Given the description of an element on the screen output the (x, y) to click on. 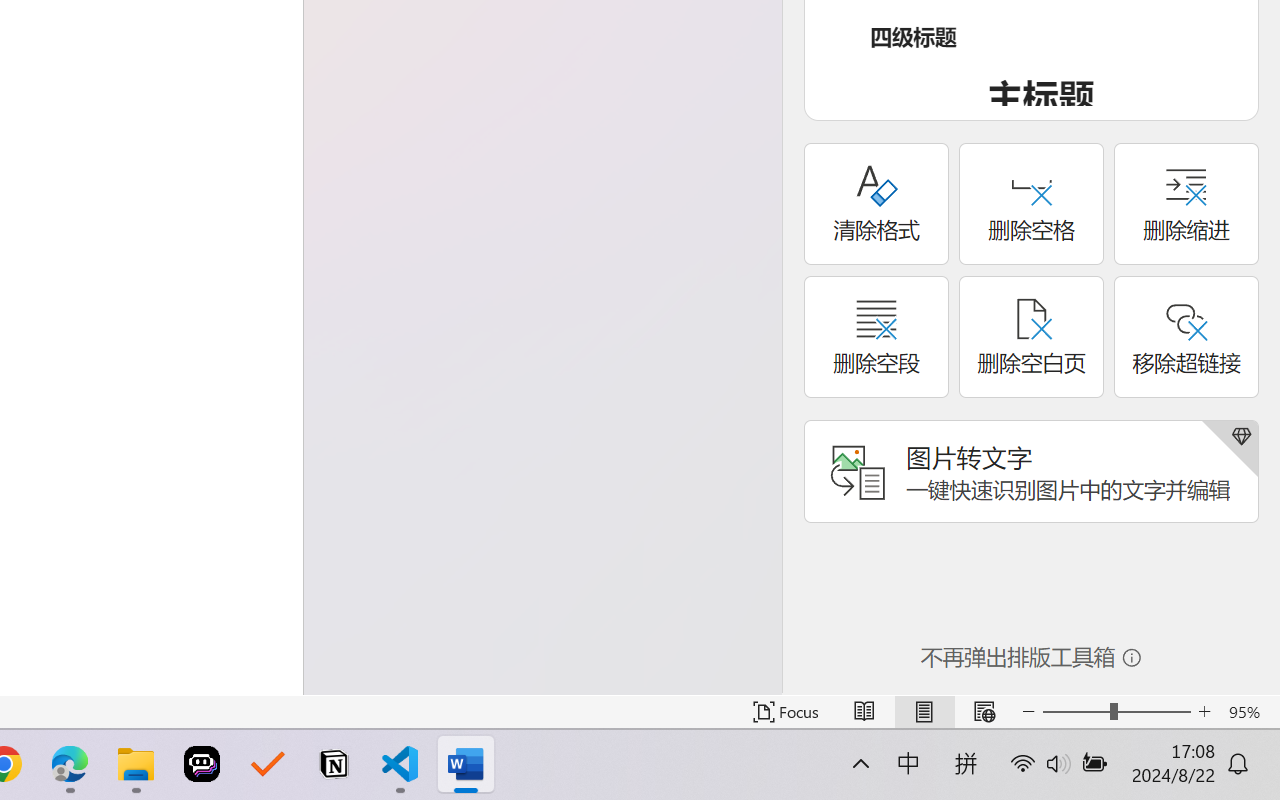
Zoom 95% (1249, 712)
